Given the description of an element on the screen output the (x, y) to click on. 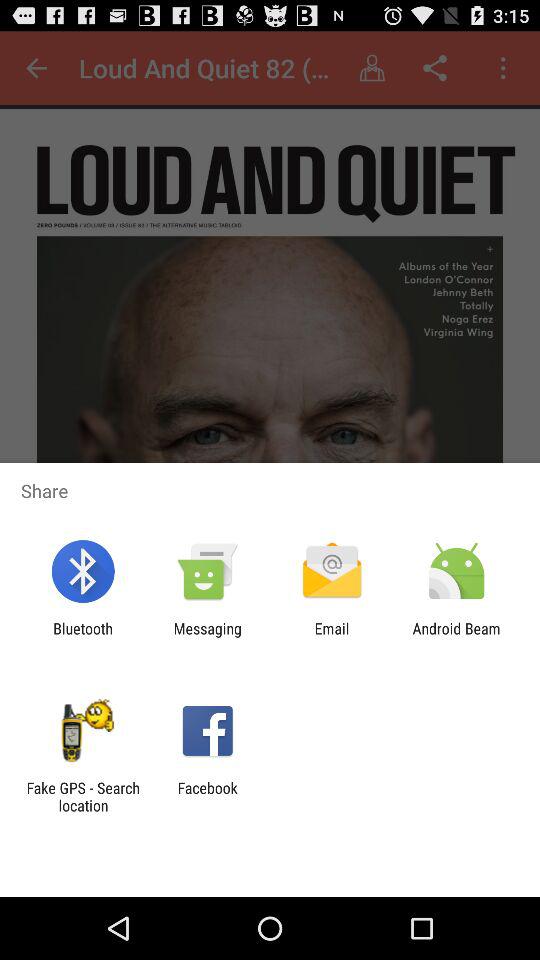
launch the icon to the left of android beam item (331, 637)
